Given the description of an element on the screen output the (x, y) to click on. 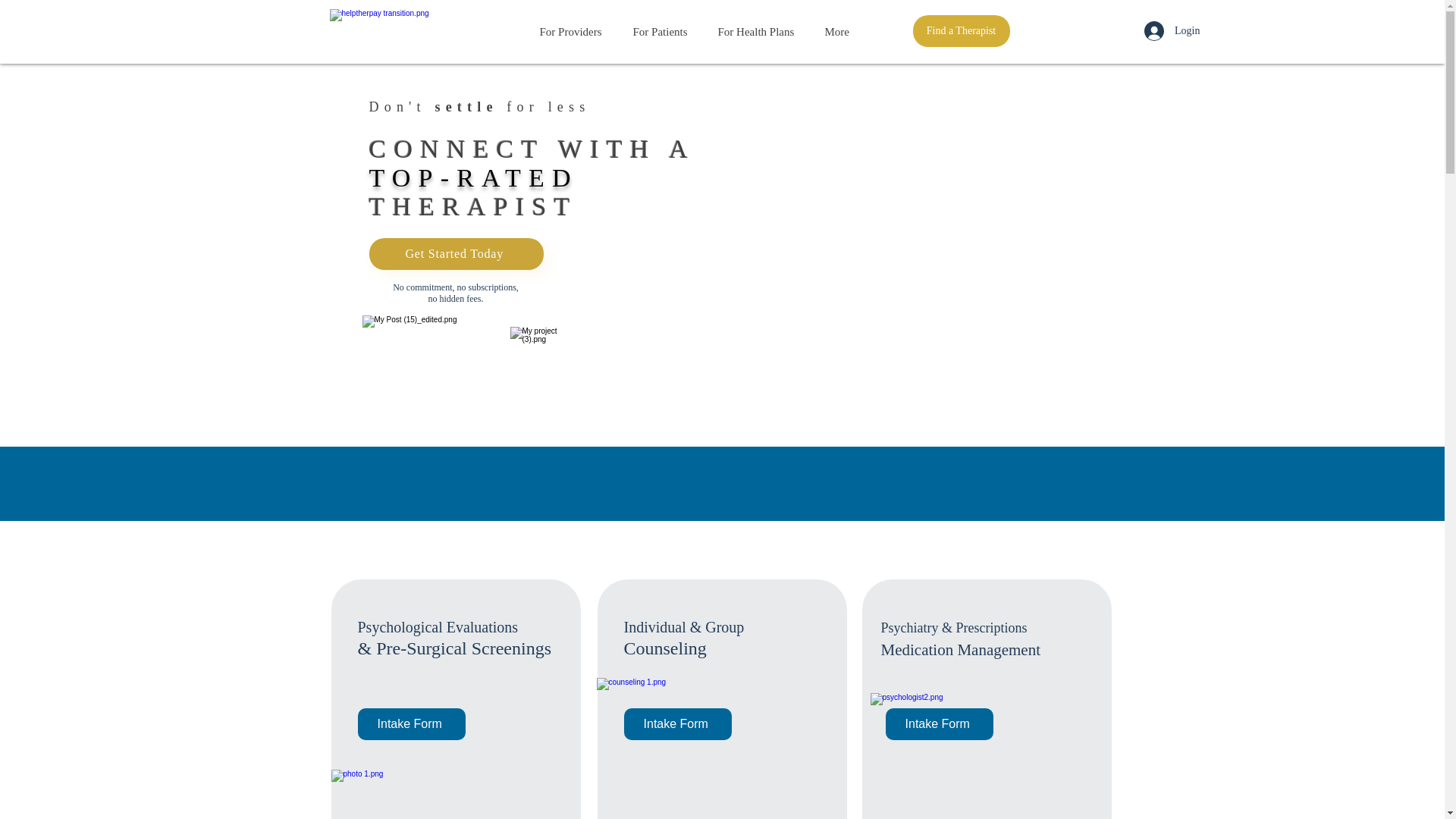
Find a Therapist (961, 30)
For Providers (574, 31)
Intake Form (938, 724)
For Health Plans (759, 31)
Get Started Today (455, 254)
Intake Form (411, 724)
Login (1171, 30)
For Patients (663, 31)
Intake Form (676, 724)
